Given the description of an element on the screen output the (x, y) to click on. 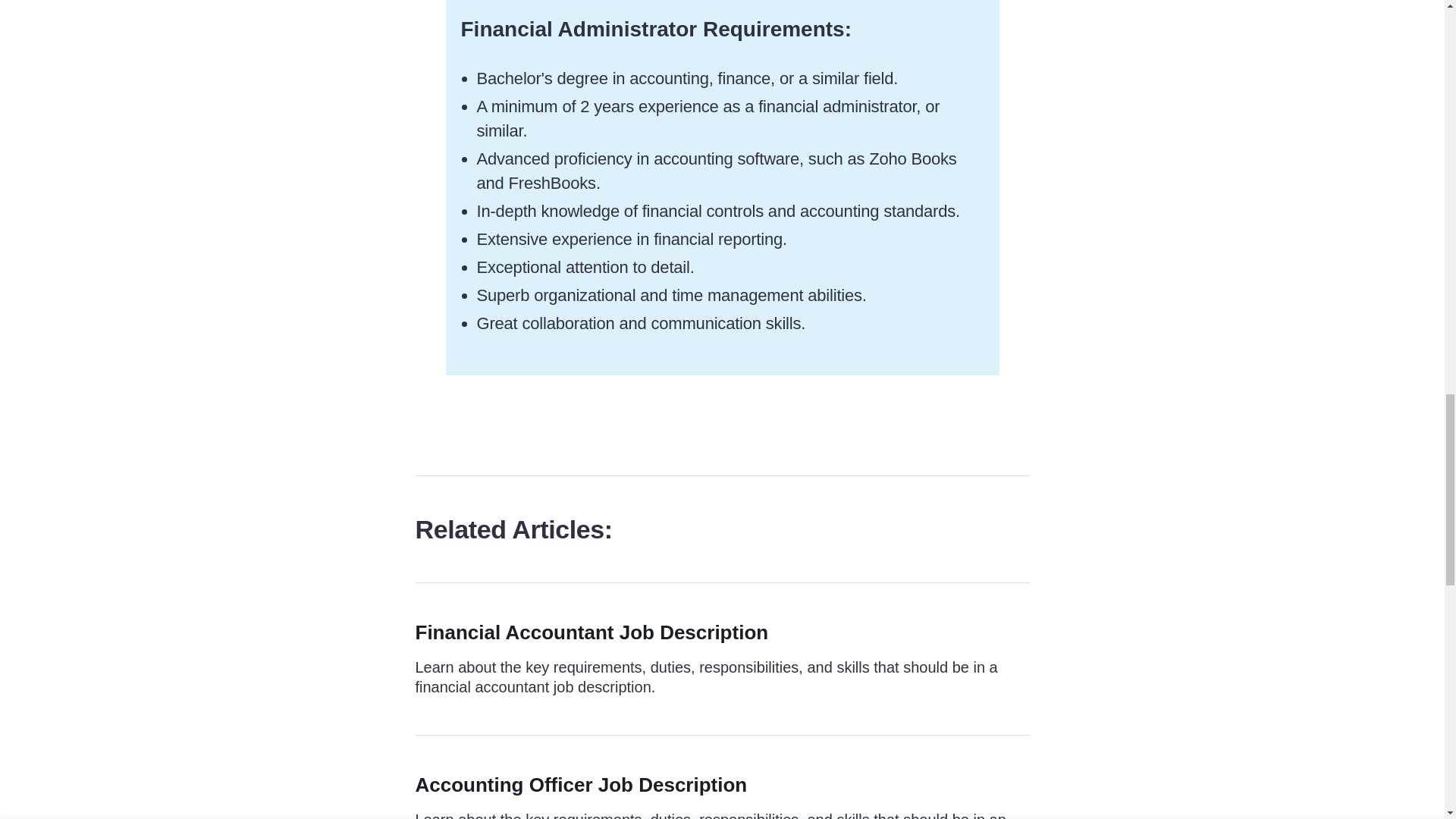
Financial Accountant Job Description (591, 631)
Accounting Officer Job Description (581, 784)
